Given the description of an element on the screen output the (x, y) to click on. 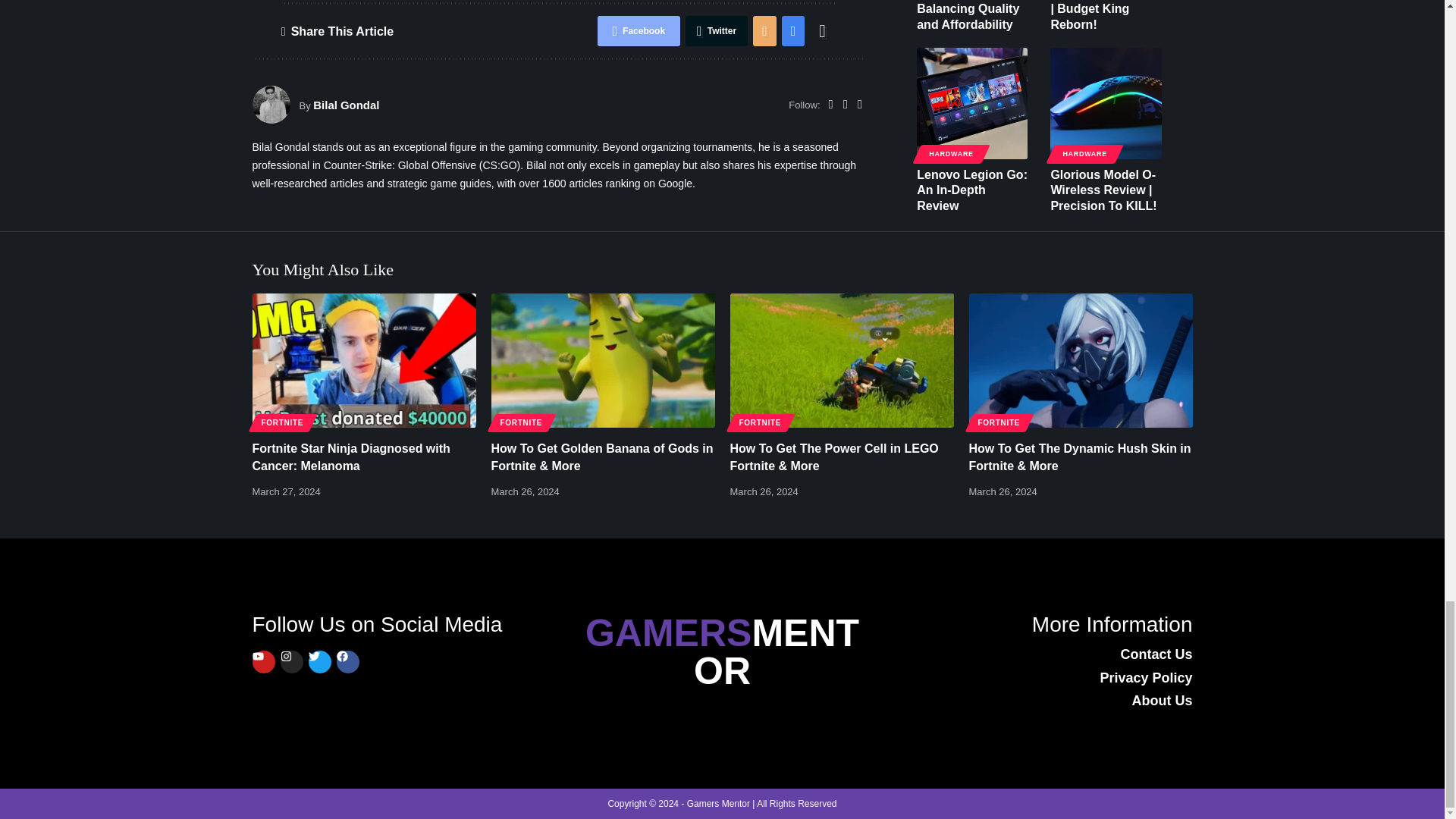
Fortnite Star Ninja Diagnosed with Cancer: Melanoma (363, 360)
